Given the description of an element on the screen output the (x, y) to click on. 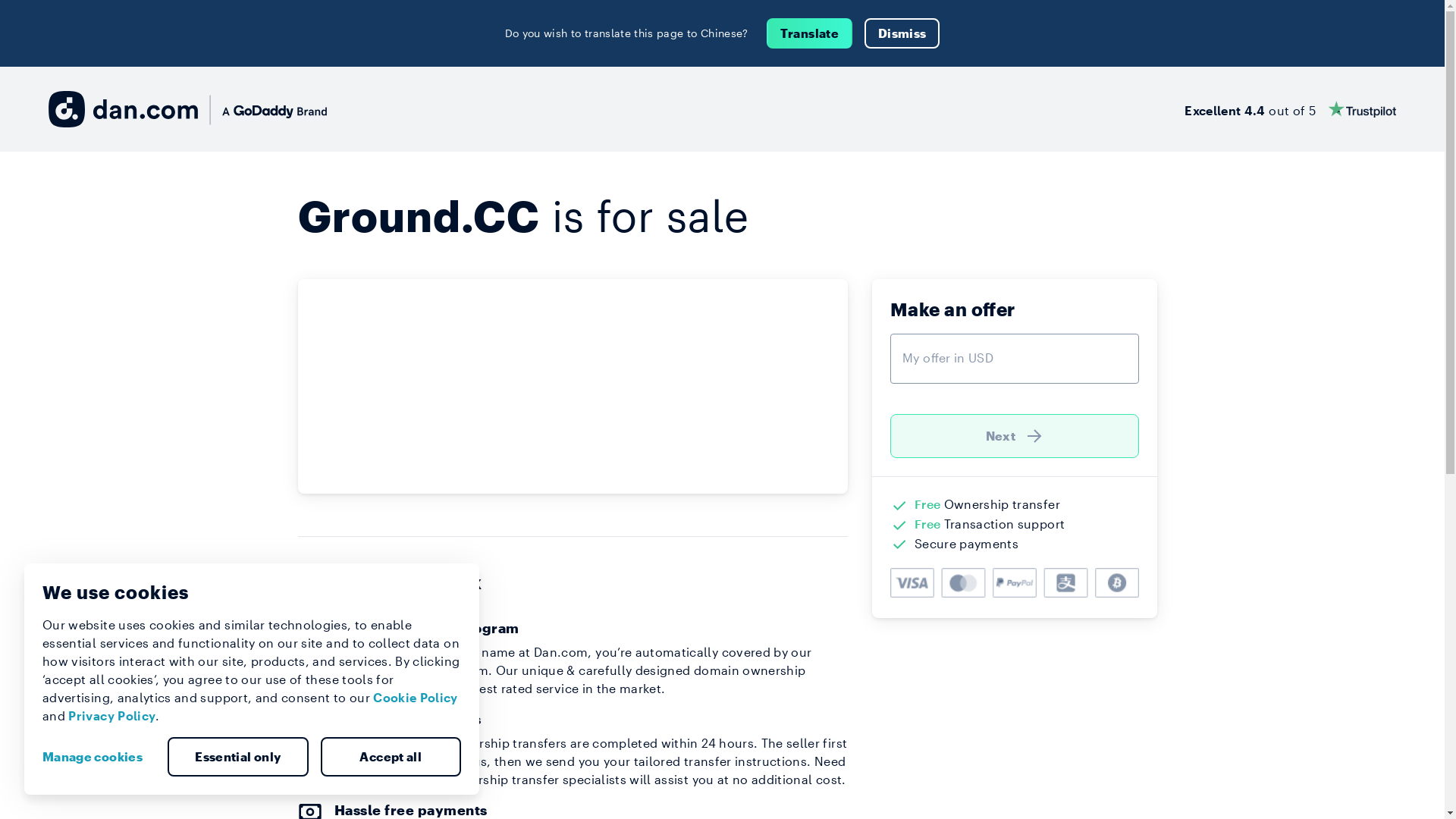
Privacy Policy Element type: text (111, 715)
Accept all Element type: text (390, 756)
Cookie Policy Element type: text (415, 697)
Translate Element type: text (809, 33)
Excellent 4.4 out of 5 Element type: text (1290, 109)
Essential only Element type: text (237, 756)
Next
) Element type: text (1014, 436)
Manage cookies Element type: text (98, 756)
Dismiss Element type: text (901, 33)
